Given the description of an element on the screen output the (x, y) to click on. 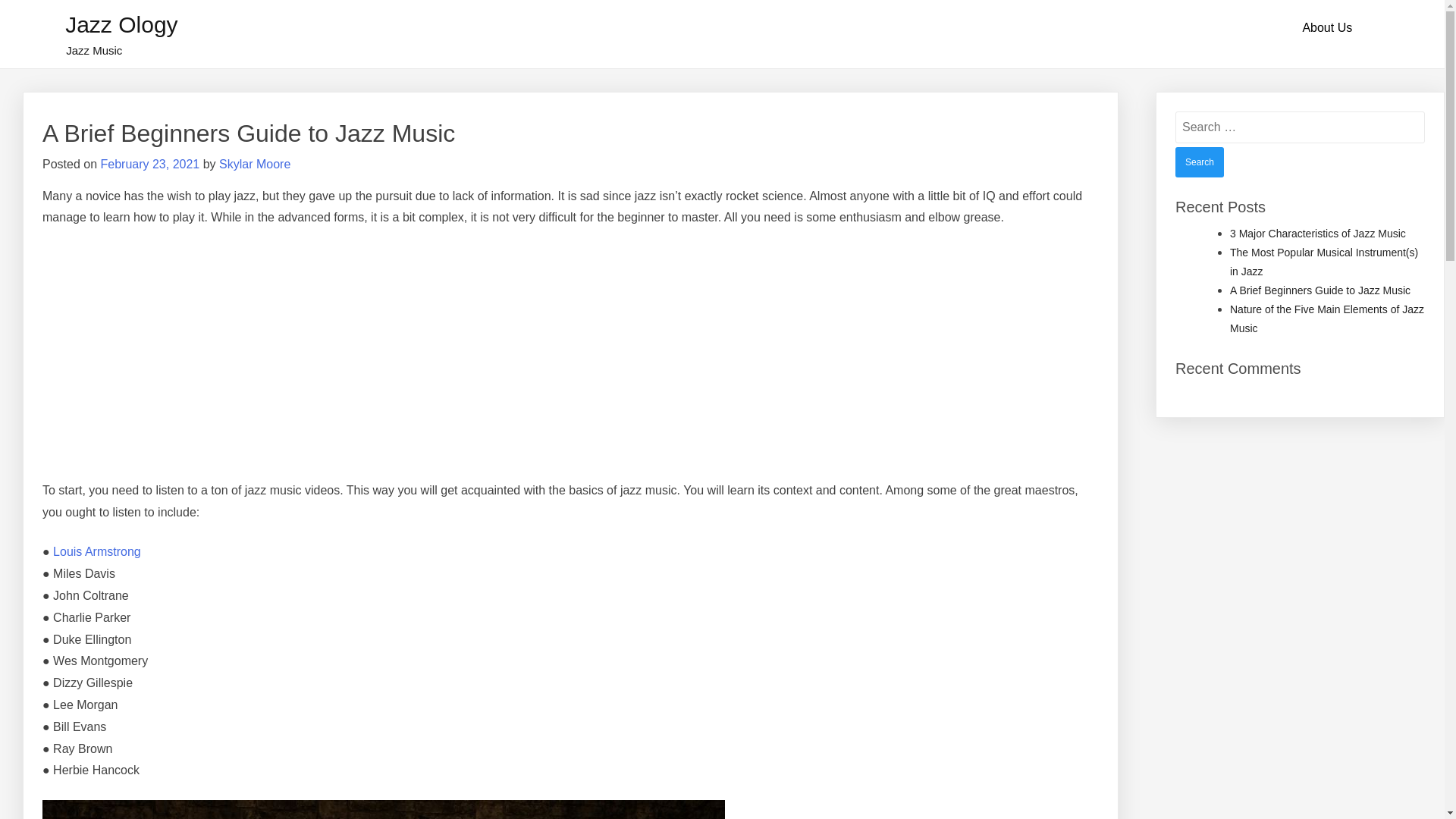
Jazz Ology Element type: text (121, 24)
Louis Armstrong Element type: text (97, 551)
New York Jazz Lounge - Bar Jazz Classics Element type: hover (231, 353)
Skylar Moore Element type: text (254, 163)
3 Major Characteristics of Jazz Music Element type: text (1317, 233)
February 23, 2021 Element type: text (149, 163)
Nature of the Five Main Elements of Jazz Music Element type: text (1327, 318)
A Brief Beginners Guide to Jazz Music Element type: text (1320, 290)
About Us Element type: text (1326, 27)
Search Element type: text (1199, 162)
The Most Popular Musical Instrument(s) in Jazz Element type: text (1324, 261)
